Given the description of an element on the screen output the (x, y) to click on. 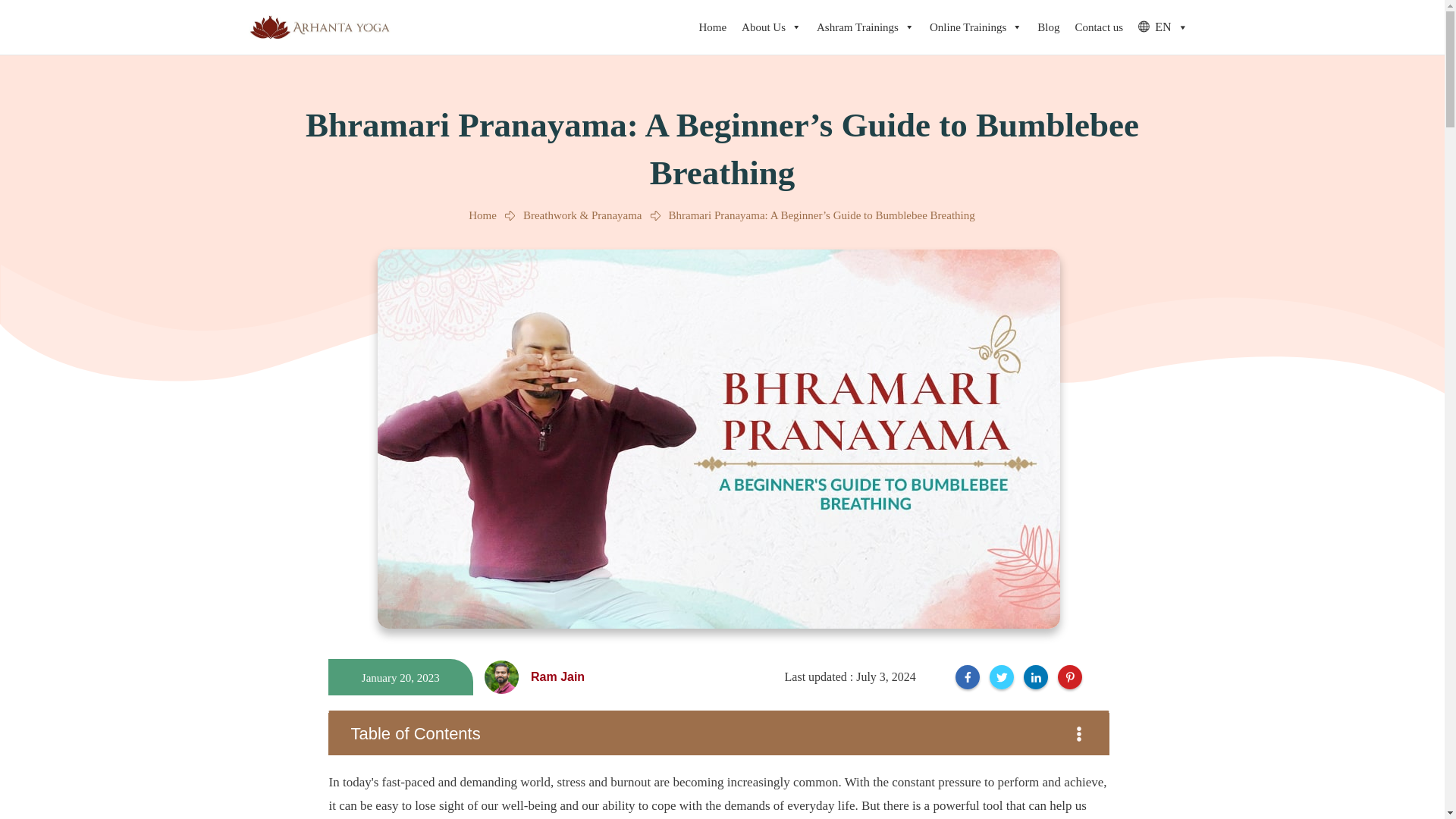
Ashram Trainings (865, 27)
Table of Contents (717, 732)
Online Trainings (975, 27)
About Us (771, 27)
Ram Jain (501, 677)
